Given the description of an element on the screen output the (x, y) to click on. 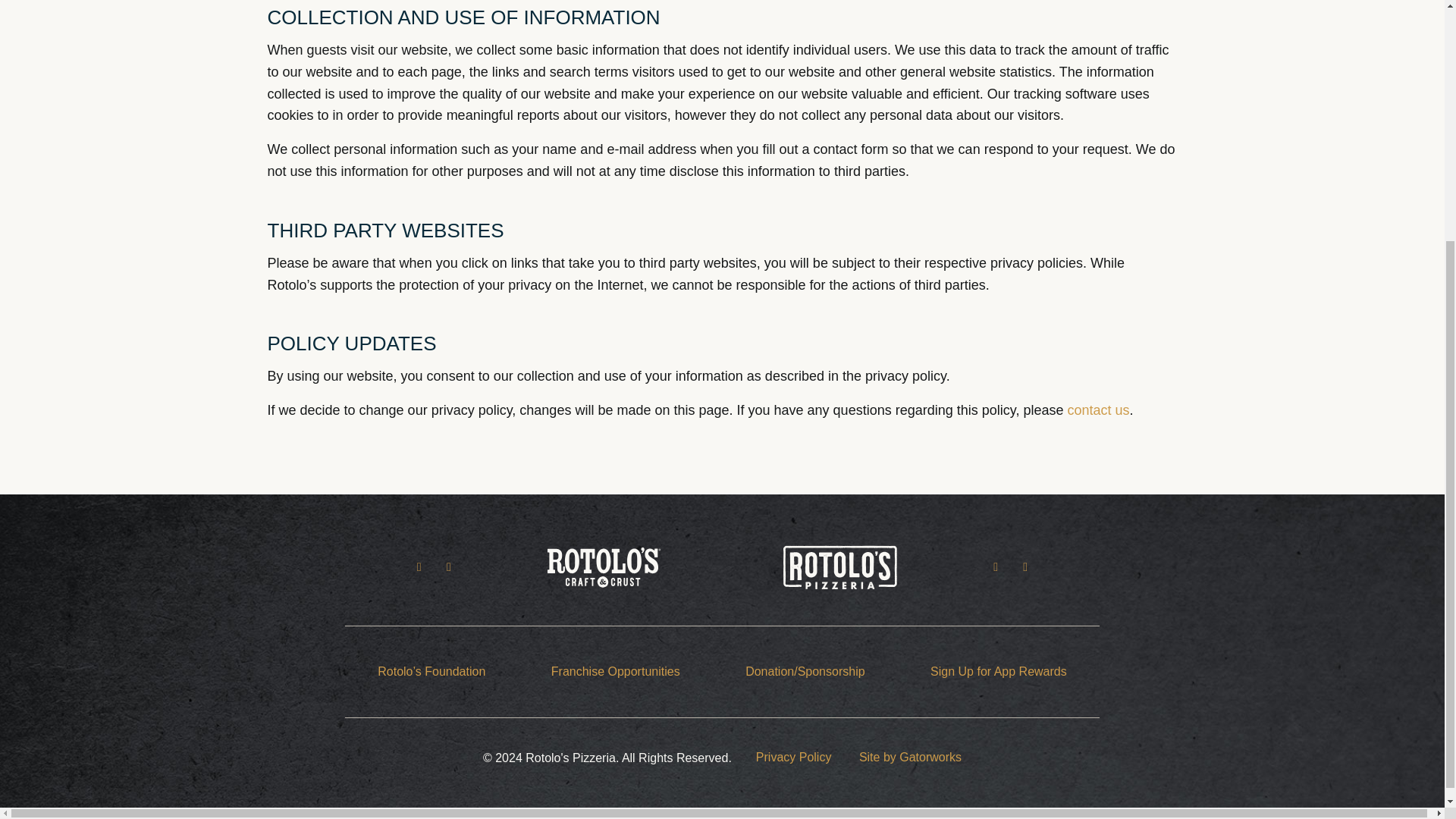
contact us (1098, 409)
